Given the description of an element on the screen output the (x, y) to click on. 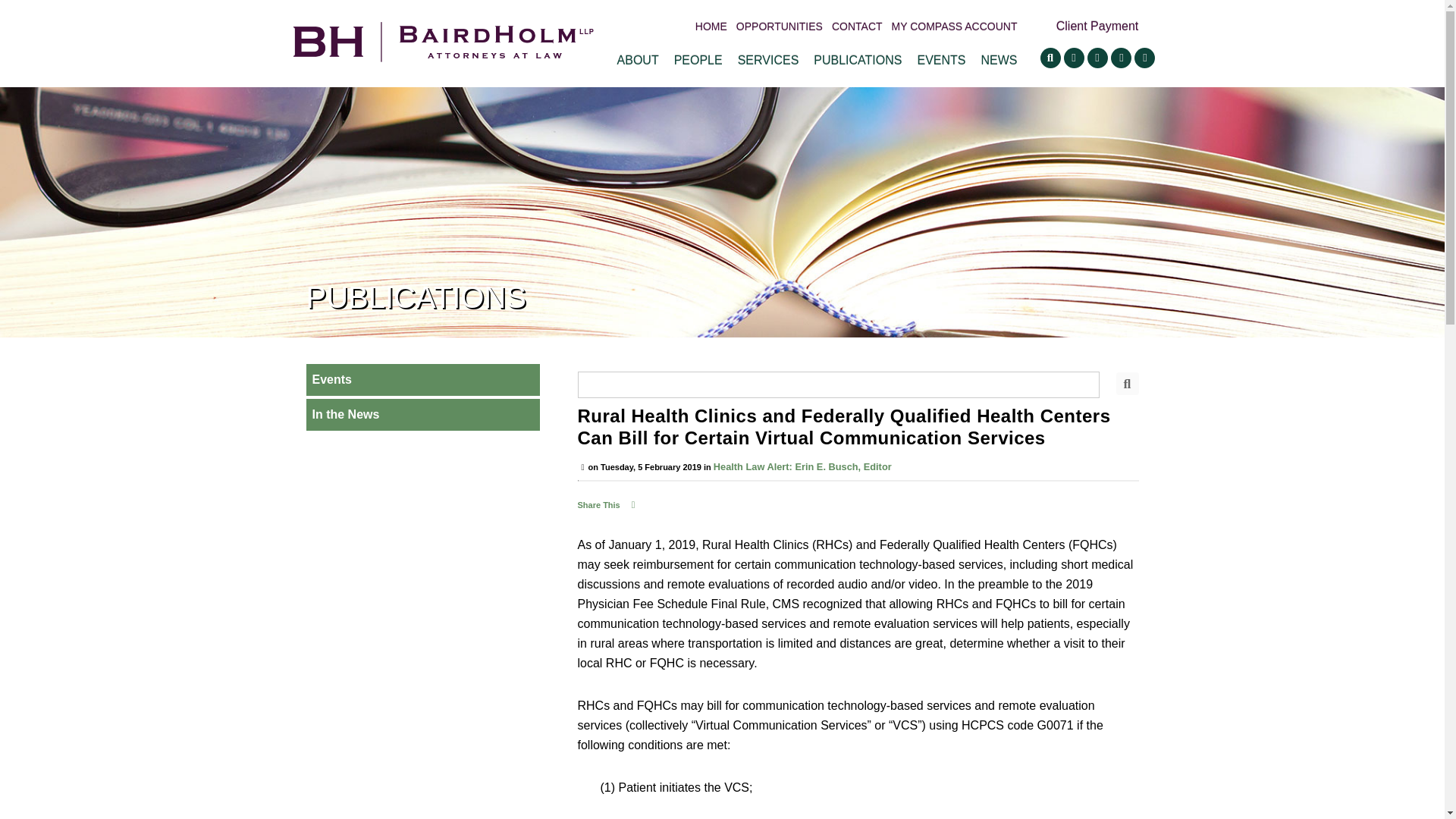
CONTACT (856, 26)
PEOPLE (698, 60)
OPPORTUNITIES (779, 26)
Health Law Alert: Erin E. Busch, Editor (802, 466)
PUBLICATIONS (857, 60)
Share This (608, 504)
In the News (422, 414)
HOME (710, 26)
Events (422, 379)
SERVICES (768, 60)
